Given the description of an element on the screen output the (x, y) to click on. 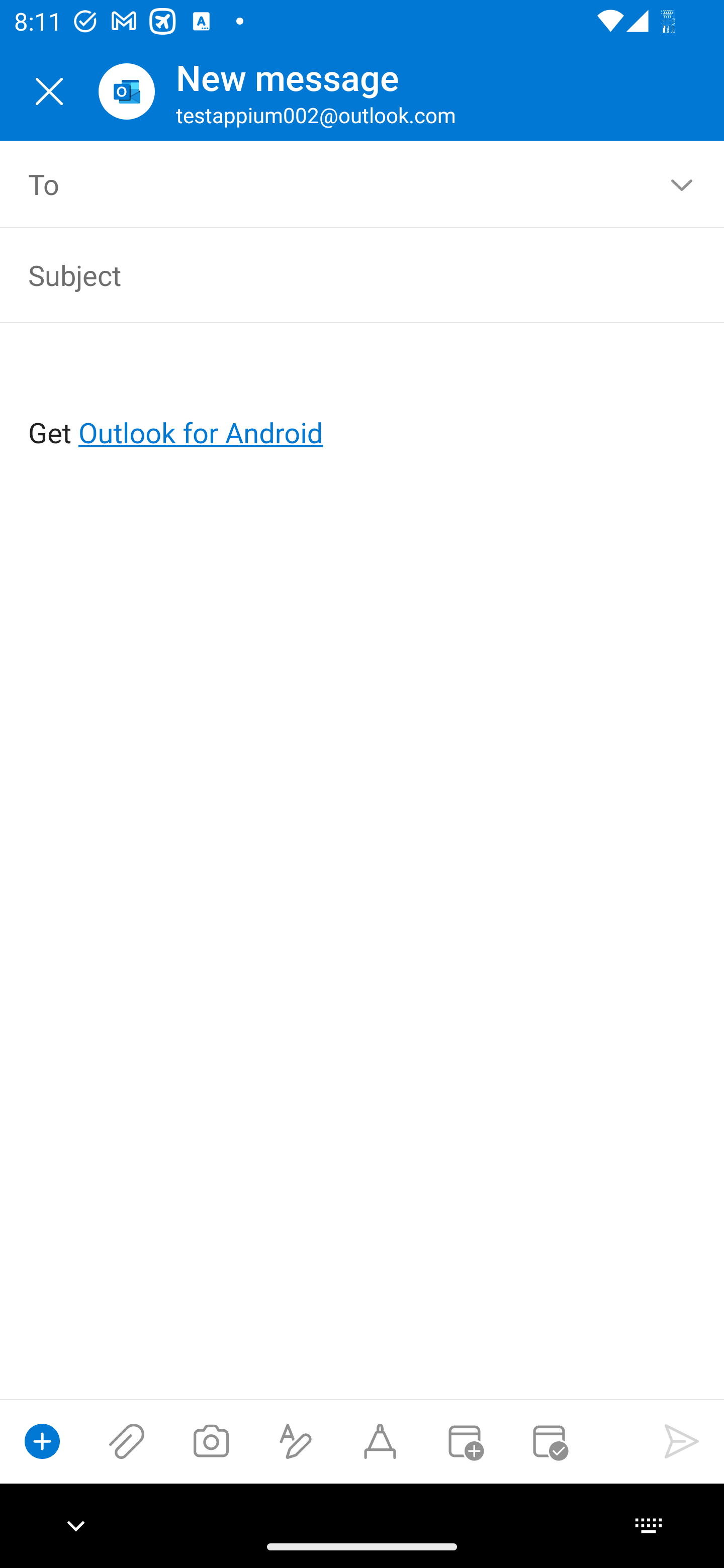
Close (49, 91)
Subject (333, 274)
Show compose options (42, 1440)
Attach files (126, 1440)
Take a photo (210, 1440)
Show formatting options (295, 1440)
Start Ink compose (380, 1440)
Convert to event (464, 1440)
Send availability (548, 1440)
Send (681, 1440)
